Given the description of an element on the screen output the (x, y) to click on. 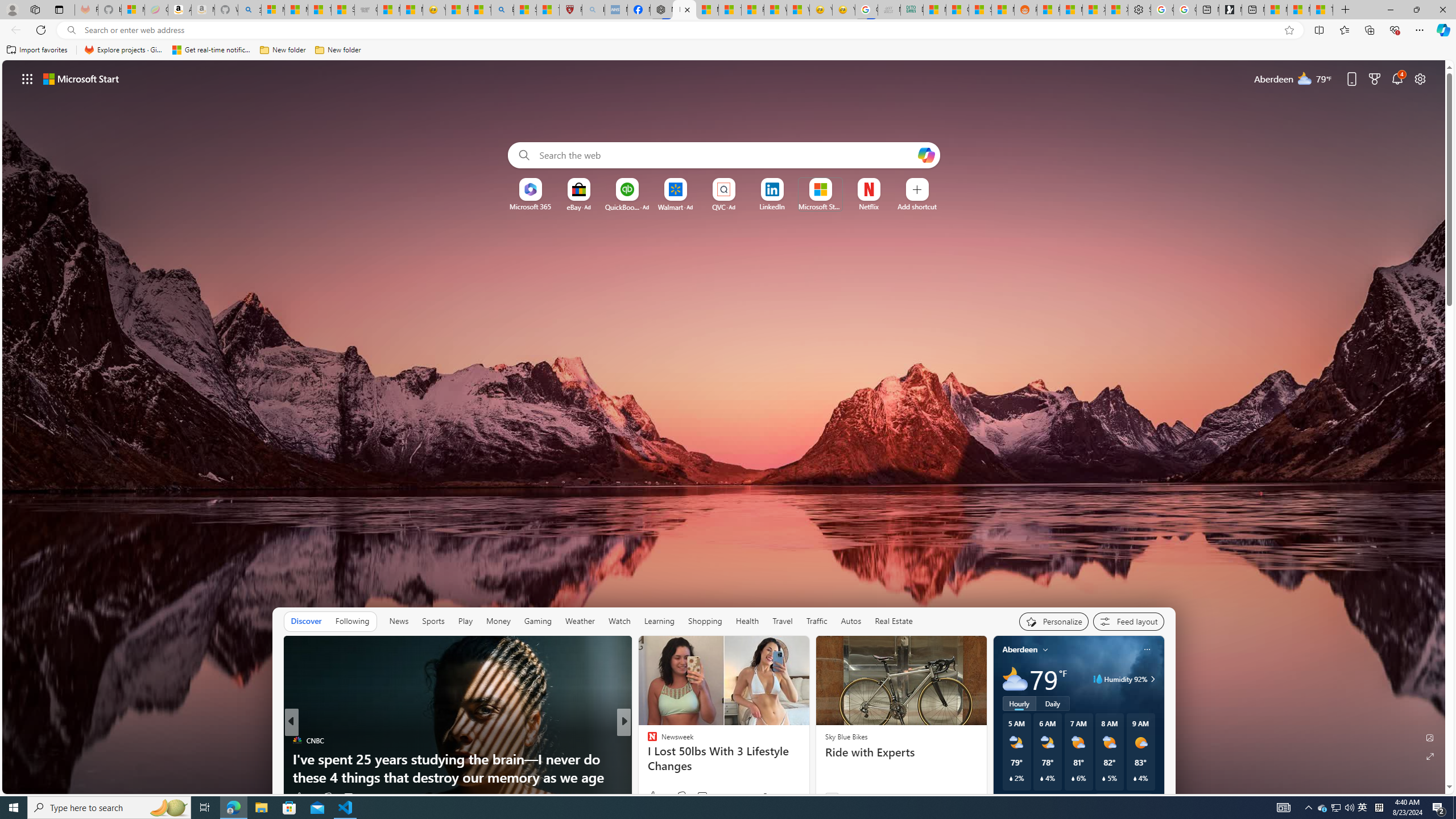
Yumophile (647, 758)
Microsoft start (81, 78)
Import favorites (36, 49)
AutomationID: backgroundImagePicture (723, 426)
AskThis (647, 758)
Work From Home With Surveys (807, 777)
